Given the description of an element on the screen output the (x, y) to click on. 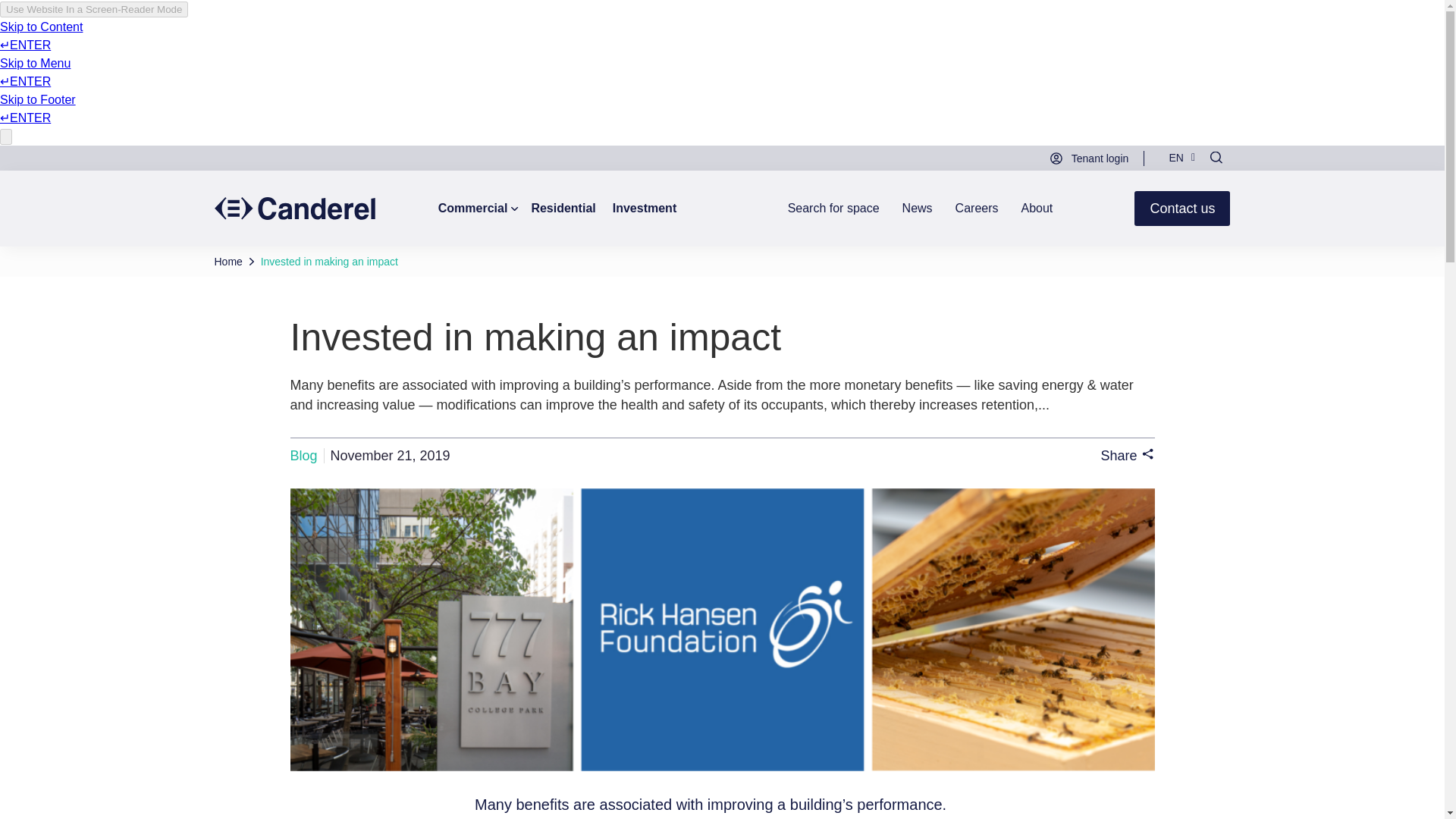
Home (227, 260)
Careers (977, 208)
Blog (303, 455)
Residential (563, 208)
EN (1178, 156)
Contact us (1182, 208)
Investment (644, 208)
Share (1127, 455)
Search for space (833, 208)
News (917, 208)
Commercial (480, 208)
Tenant login (671, 157)
About (1037, 208)
